Given the description of an element on the screen output the (x, y) to click on. 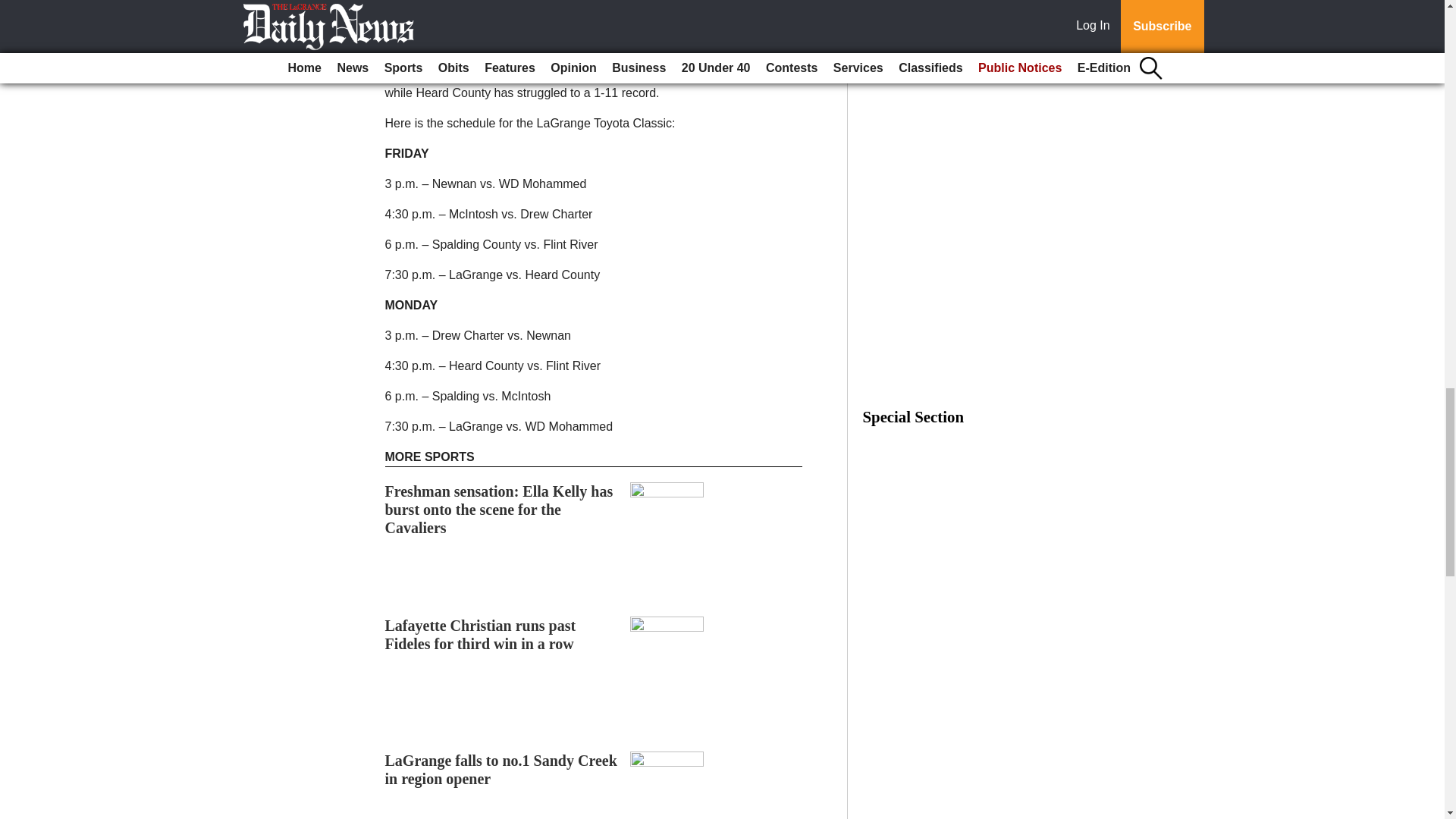
Lafayette Christian runs past Fideles for third win in a row (480, 634)
Lafayette Christian runs past Fideles for third win in a row (480, 634)
LaGrange falls to no.1 Sandy Creek in region opener (501, 769)
LaGrange falls to no.1 Sandy Creek in region opener (501, 769)
